Given the description of an element on the screen output the (x, y) to click on. 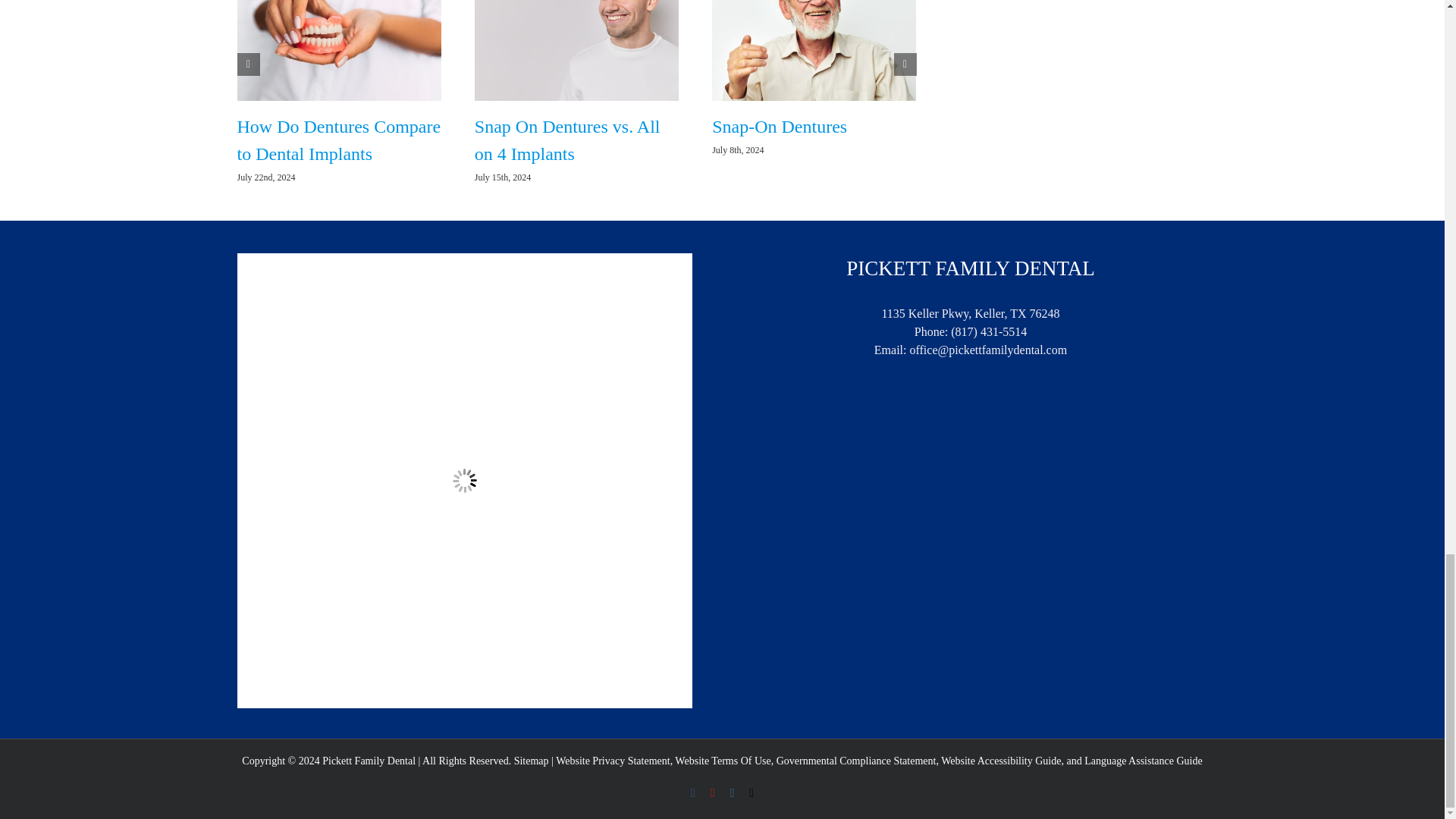
How Do Dentures Compare to Dental Implants (338, 140)
Snap On Dentures vs. All on 4 Implants (567, 140)
Facebook (692, 793)
Snap-On Dentures (779, 126)
YouTube (712, 793)
Instagram (731, 793)
